Given the description of an element on the screen output the (x, y) to click on. 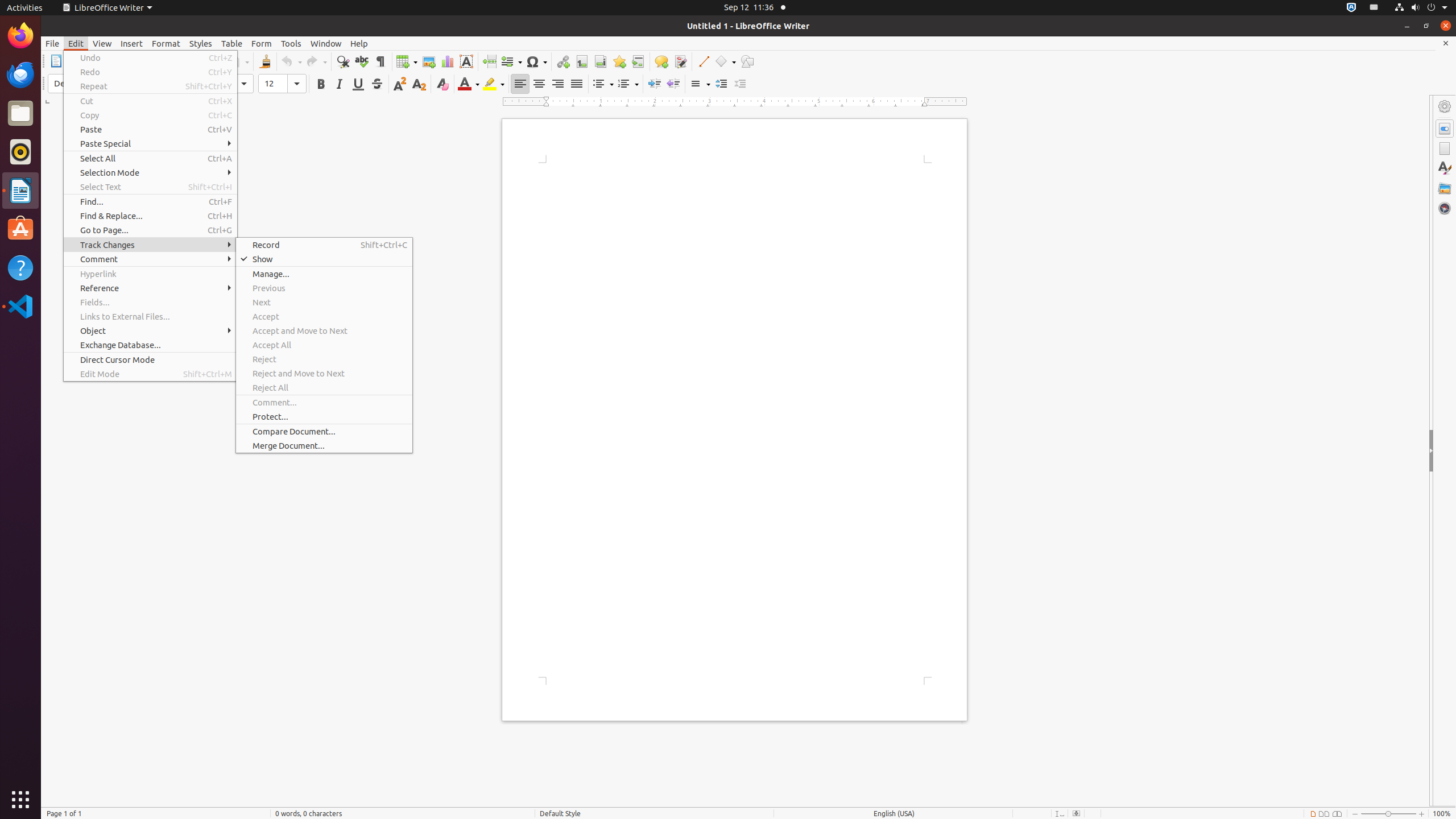
Line Element type: toggle-button (702, 61)
File Element type: menu (51, 43)
Compare Document... Element type: menu-item (324, 431)
org.kde.StatusNotifierItem-14077-1 Element type: menu (1373, 7)
Links to External Files... Element type: menu-item (150, 316)
